Given the description of an element on the screen output the (x, y) to click on. 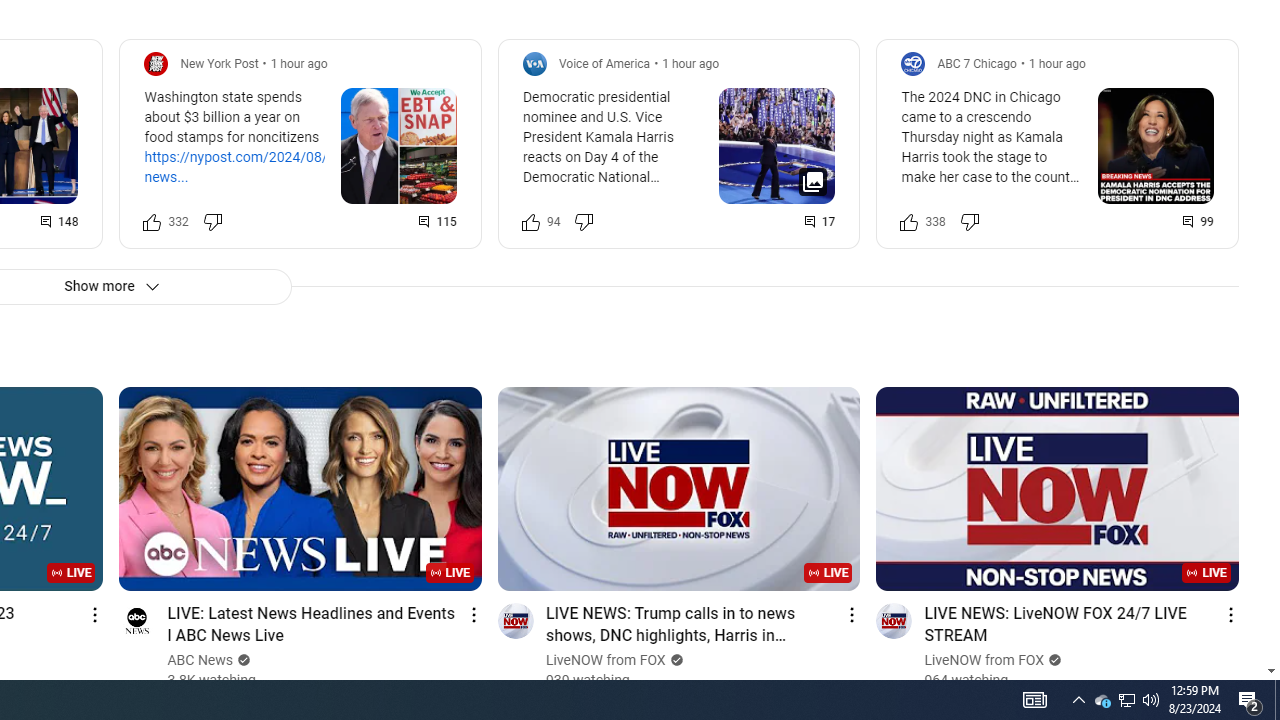
1 hour ago (1056, 63)
Go to channel (893, 620)
LiveNOW from FOX (984, 660)
Like this post along with 94 other people (530, 221)
